Given the description of an element on the screen output the (x, y) to click on. 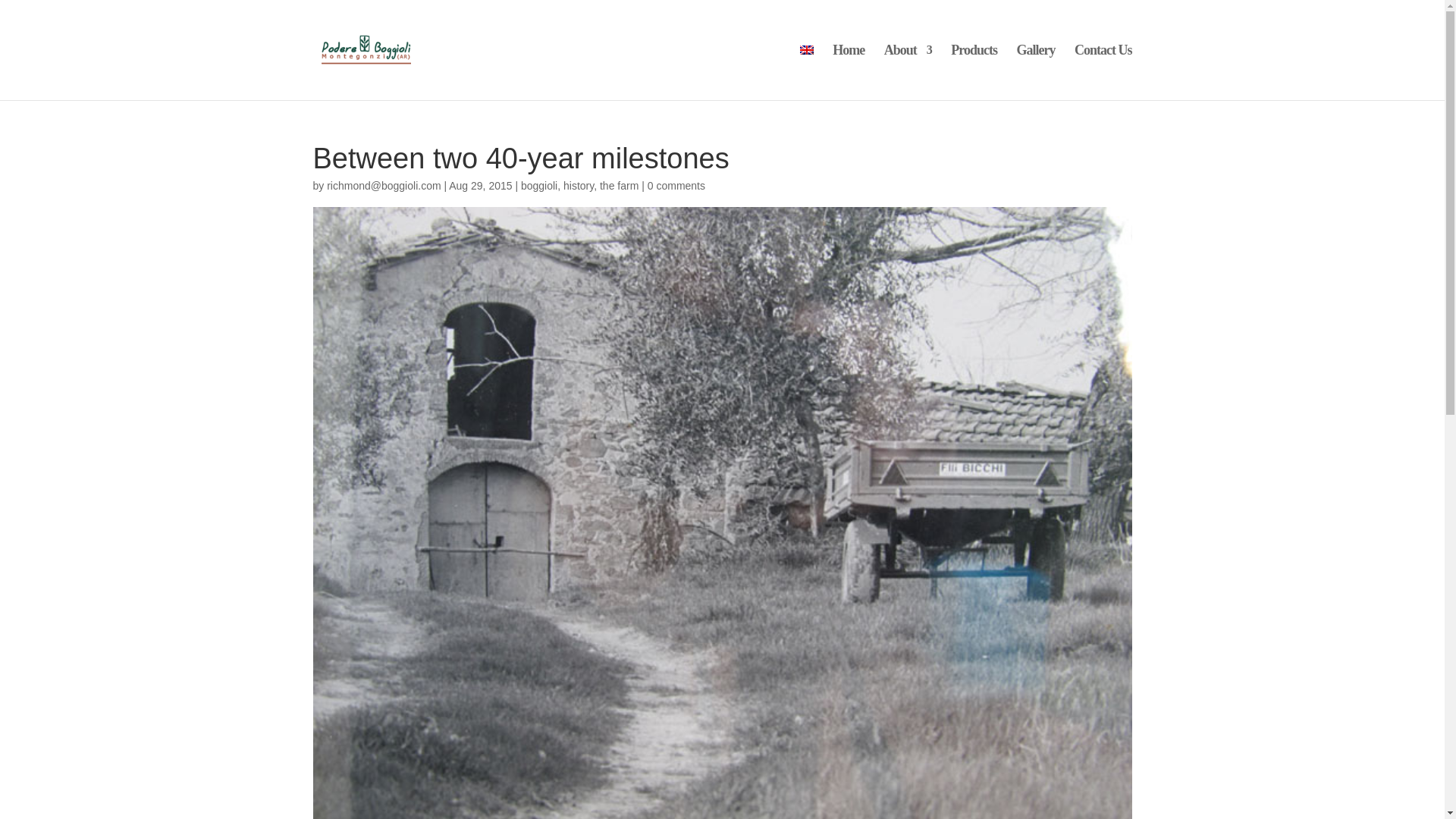
0 comments (675, 185)
boggioli (539, 185)
history (578, 185)
Contact Us (1103, 72)
the farm (619, 185)
